Given the description of an element on the screen output the (x, y) to click on. 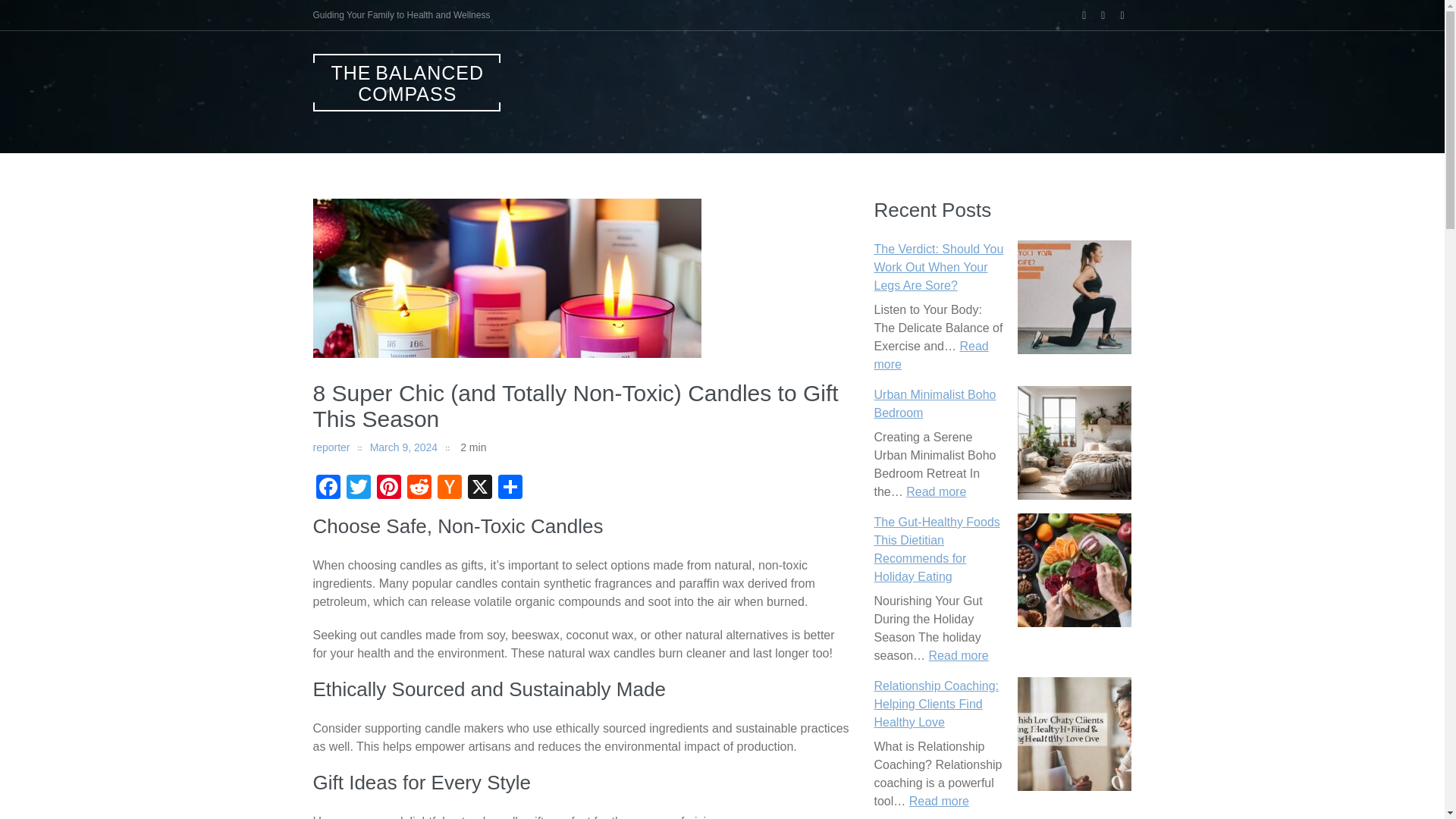
reporter (331, 447)
The Verdict: Should You Work Out When Your Legs Are Sore? (938, 266)
Pinterest (387, 488)
X (479, 488)
Twitter (357, 488)
Facebook (327, 488)
X (479, 488)
Reading Time (465, 447)
Reddit (418, 488)
